Given the description of an element on the screen output the (x, y) to click on. 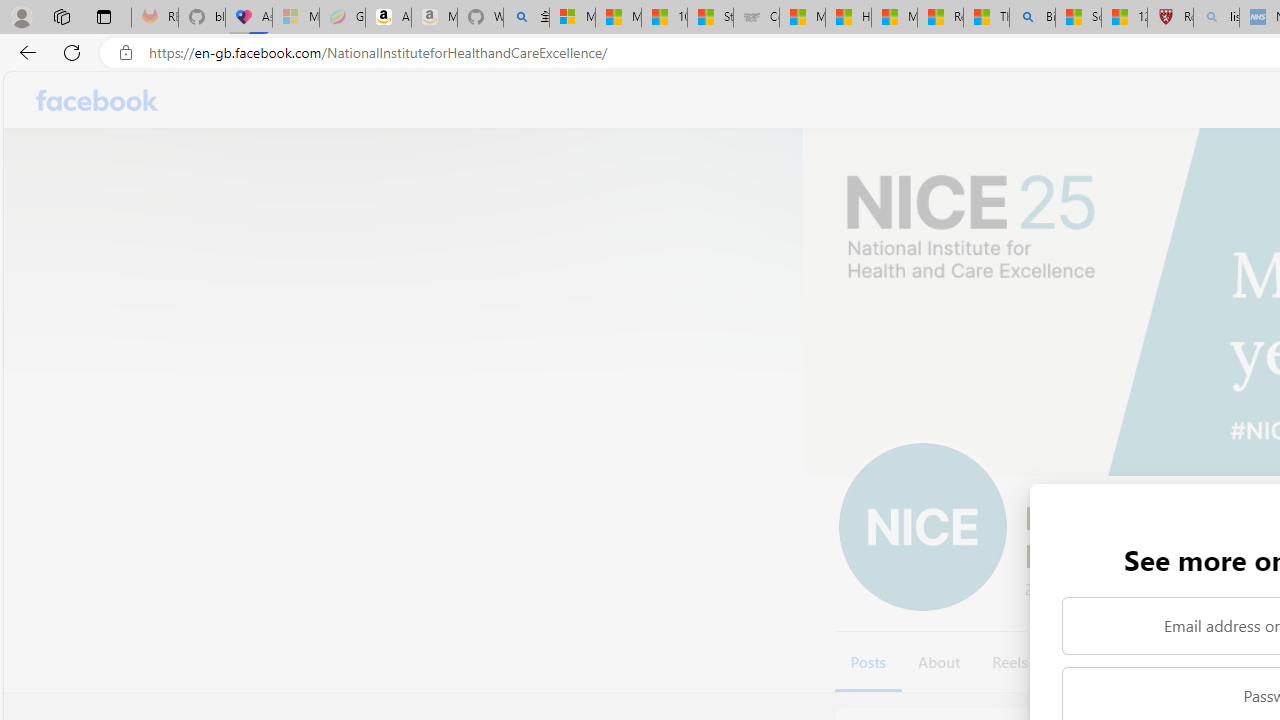
Combat Siege (756, 17)
Bing (1031, 17)
Recipes - MSN (939, 17)
Science - MSN (1078, 17)
